Given the description of an element on the screen output the (x, y) to click on. 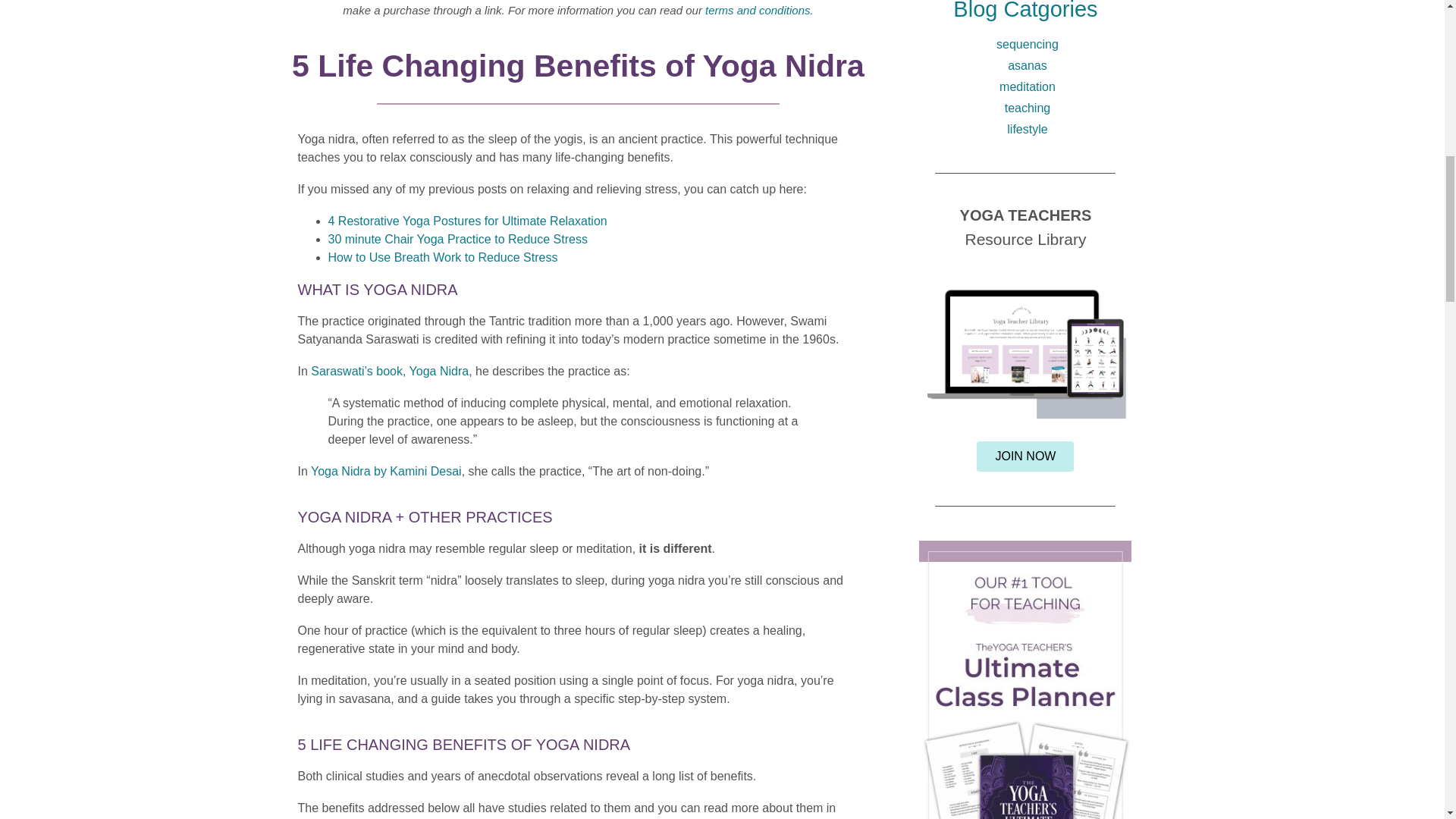
meditation (1024, 86)
lifestyle (1024, 129)
asanas (1024, 65)
4 Restorative Yoga Postures for Ultimate Relaxation (467, 220)
How to Use Breath Work to Reduce Stress (442, 256)
teaching (1024, 108)
JOIN NOW (1025, 456)
sequencing (1024, 45)
30 minute Chair Yoga Practice to Reduce Stress (456, 238)
terms and conditions. (758, 10)
